Given the description of an element on the screen output the (x, y) to click on. 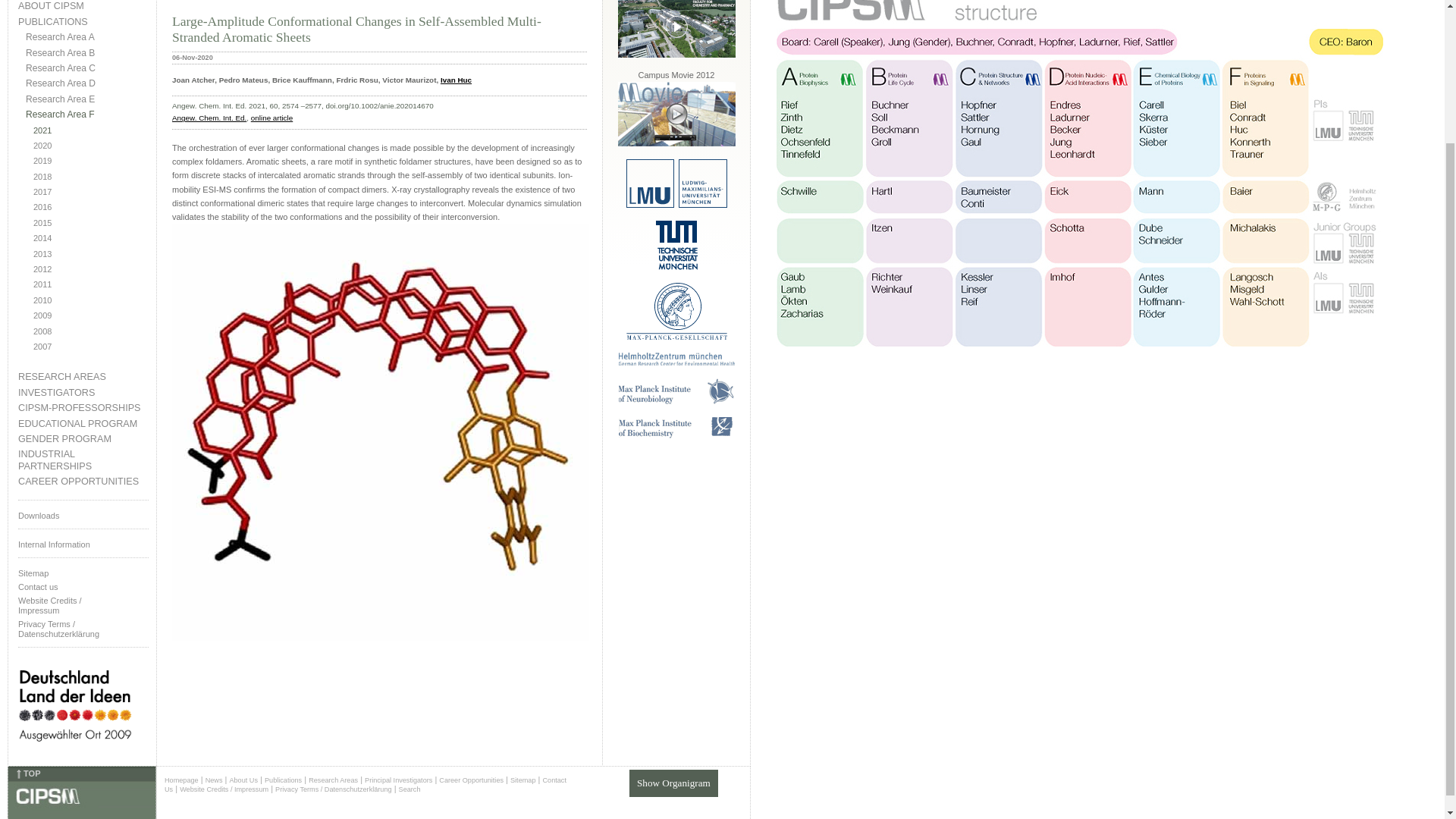
Research Area A (87, 37)
2010 (90, 300)
MPI of Biochemistry (676, 435)
2016 (90, 206)
Deutschland Land der Ideen (74, 753)
RESEARCH AREAS (82, 377)
ABOUT CIPSM (82, 6)
Downloads (82, 515)
EDUCATIONAL PROGRAM (82, 423)
2009 (90, 315)
Research Area E (87, 99)
Research Areas (333, 779)
LMUexcellent (676, 204)
Homepage (181, 779)
Principal Investigators (398, 779)
